Given the description of an element on the screen output the (x, y) to click on. 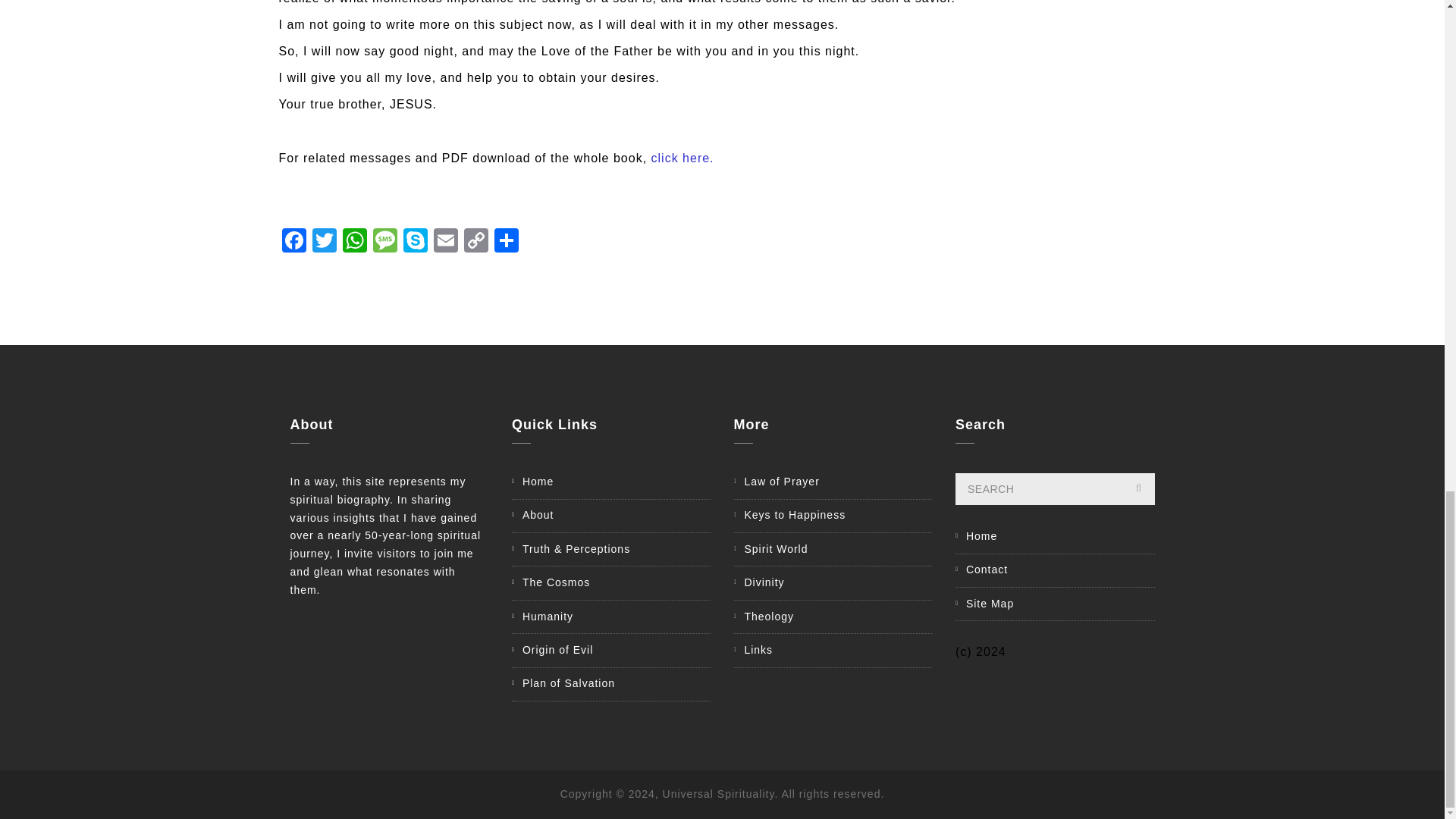
WhatsApp (354, 242)
Copy Link (476, 242)
Message (384, 242)
Twitter (323, 242)
Skype (415, 242)
Facebook (293, 242)
Email (445, 242)
